Given the description of an element on the screen output the (x, y) to click on. 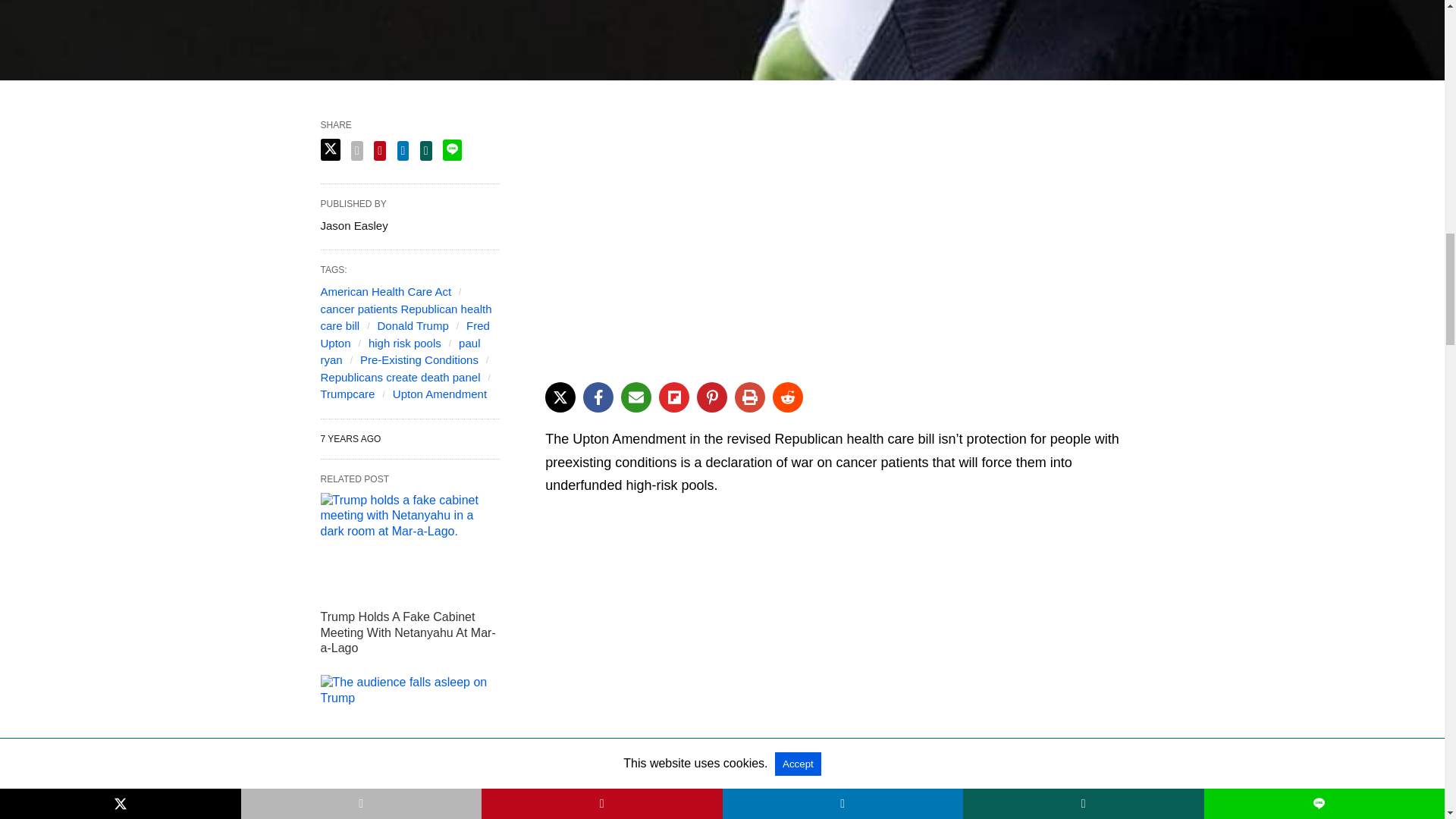
cancer patients Republican health care bill (406, 317)
American Health Care Act (385, 291)
American Health Care Act (385, 291)
paul ryan (400, 351)
Fred Upton (404, 334)
high risk pools (404, 342)
Donald Trump (412, 325)
Pre-Existing Conditions (419, 359)
line share (451, 149)
